Given the description of an element on the screen output the (x, y) to click on. 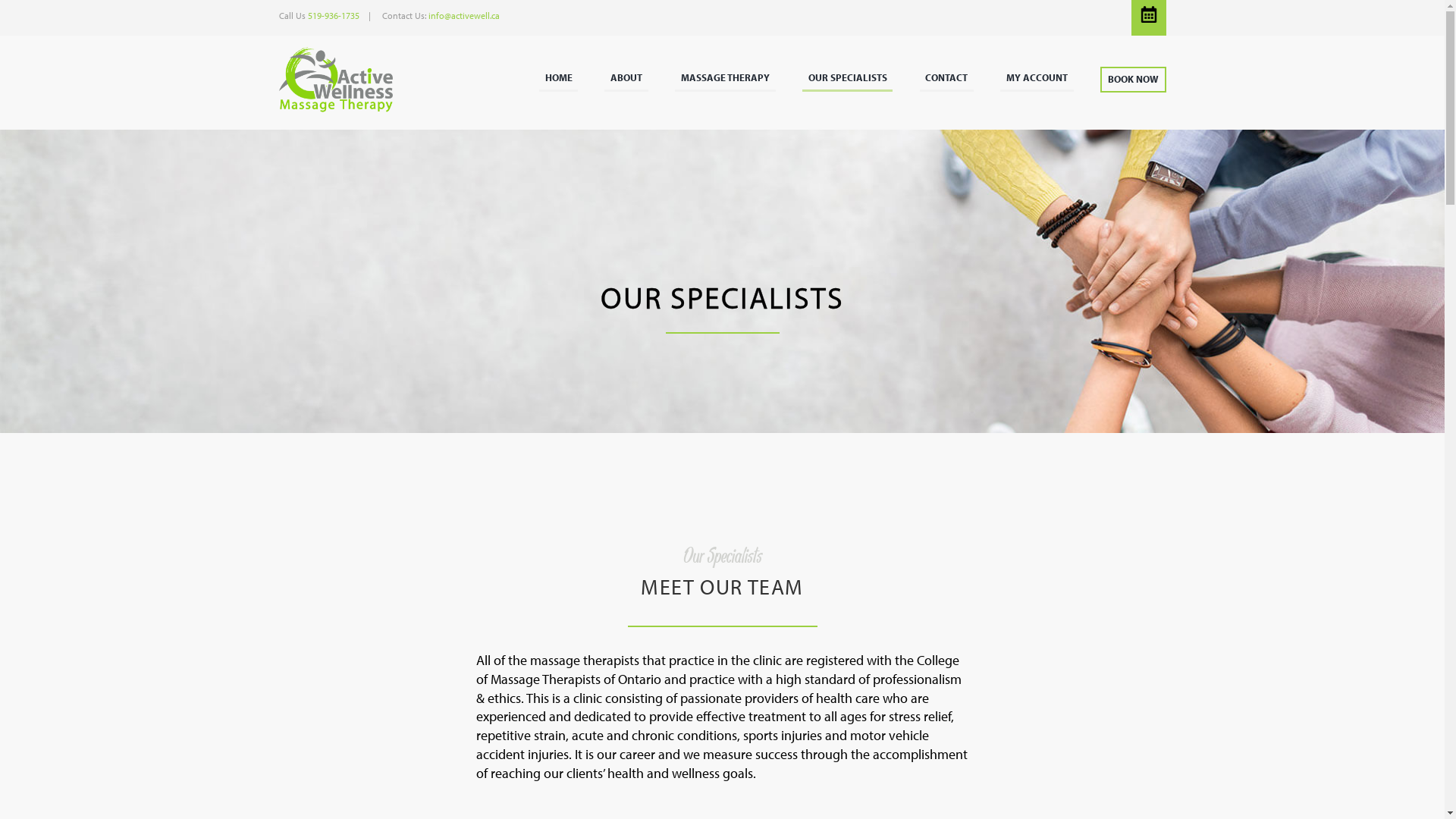
HOME Element type: text (558, 78)
ABOUT Element type: text (626, 78)
OUR SPECIALISTS Element type: text (847, 78)
MY ACCOUNT Element type: text (1036, 78)
MASSAGE THERAPY Element type: text (724, 78)
info@activewell.ca Element type: text (462, 15)
519-936-1735 Element type: text (333, 15)
CONTACT Element type: text (946, 78)
BOOK NOW Element type: text (1133, 79)
